Given the description of an element on the screen output the (x, y) to click on. 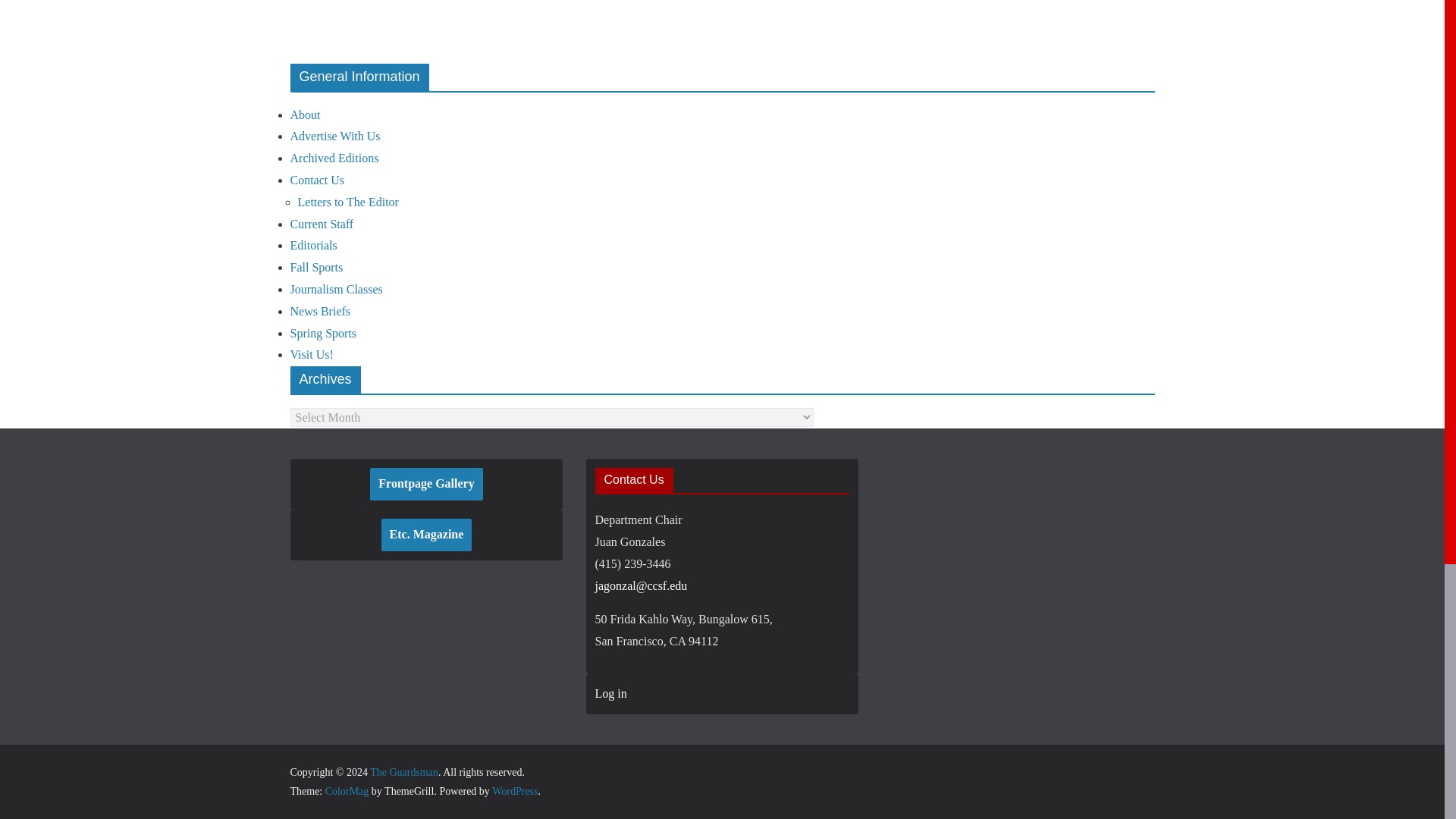
Fall Sports (315, 267)
Current Staff (321, 223)
Letters to The Editor (347, 201)
Spring Sports (322, 332)
Contact Us (316, 179)
Journalism Classes (335, 288)
News Briefs (319, 310)
About (304, 114)
Advertise With Us (334, 135)
WordPress (514, 790)
